Given the description of an element on the screen output the (x, y) to click on. 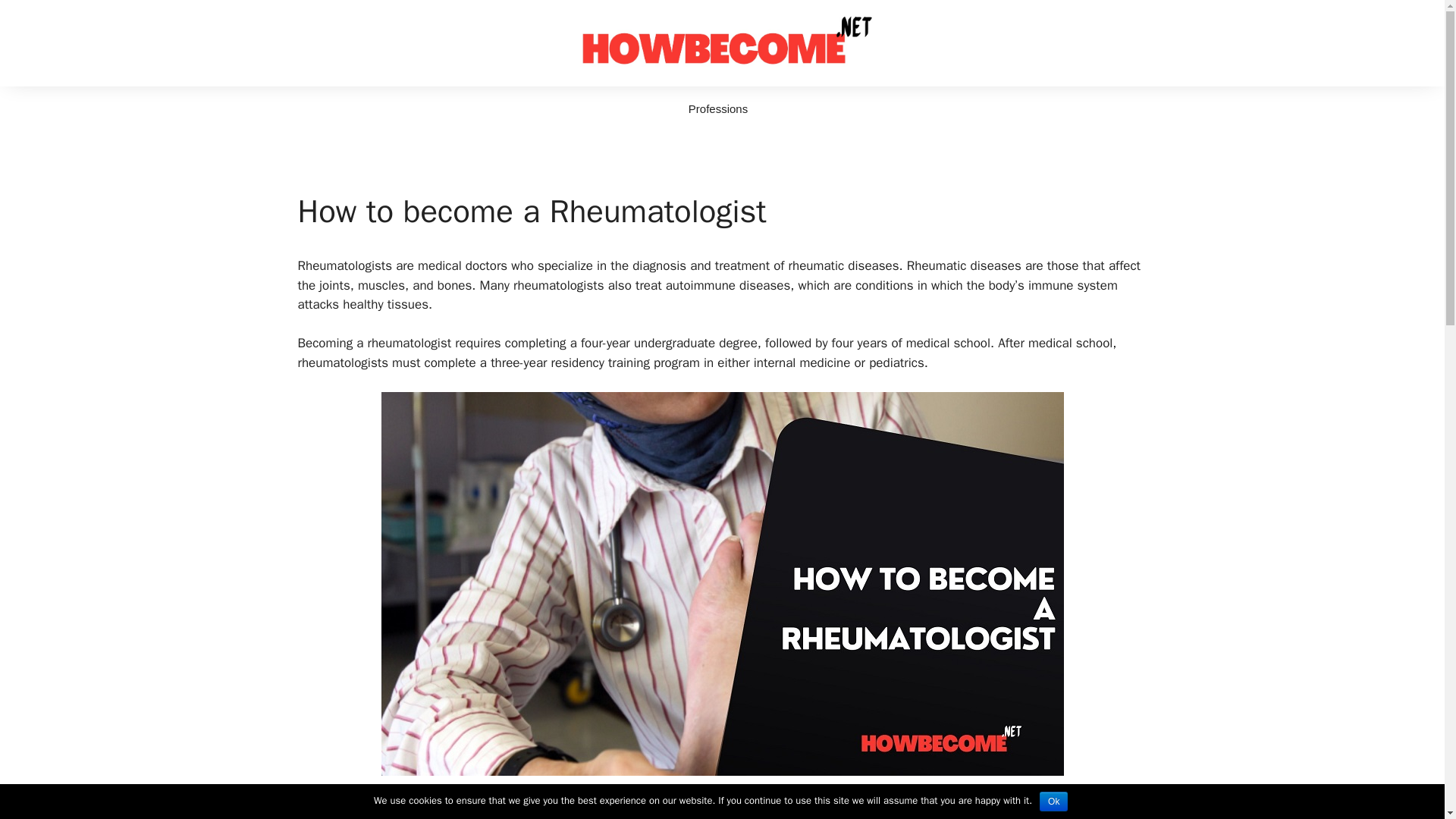
How Become (721, 43)
Ok (1053, 801)
hide (455, 812)
Professions (717, 108)
How Become (721, 41)
